Given the description of an element on the screen output the (x, y) to click on. 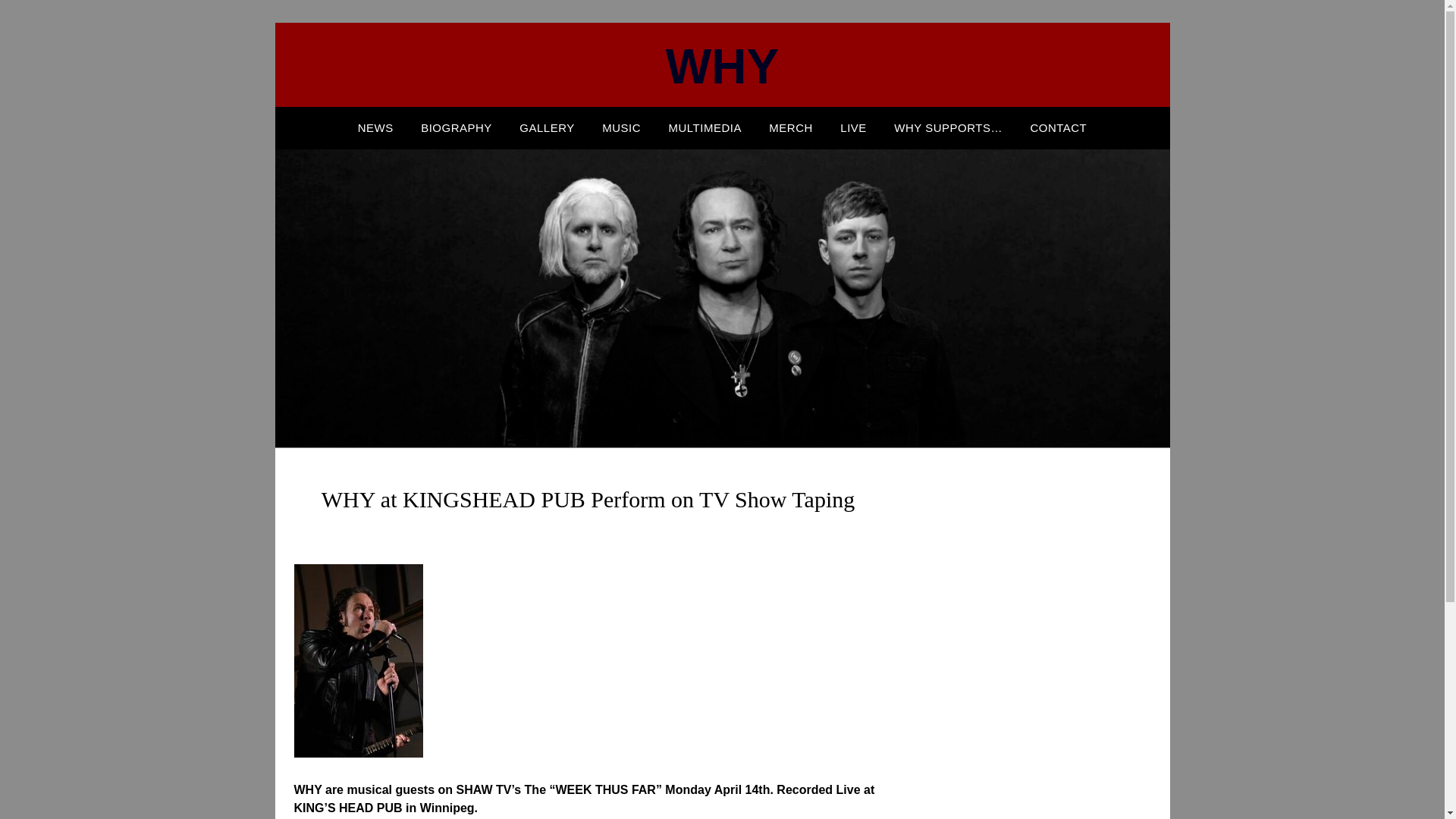
Photo Gallery (546, 127)
Live Shows (853, 127)
BIOGRAPHY (456, 127)
NEWS (376, 127)
MUSIC (620, 127)
CONTACT (1058, 127)
GALLERY (546, 127)
Merch Store (791, 127)
Buy Music (620, 127)
MULTIMEDIA (705, 127)
MERCH (791, 127)
WHY (721, 66)
LIVE (853, 127)
